Given the description of an element on the screen output the (x, y) to click on. 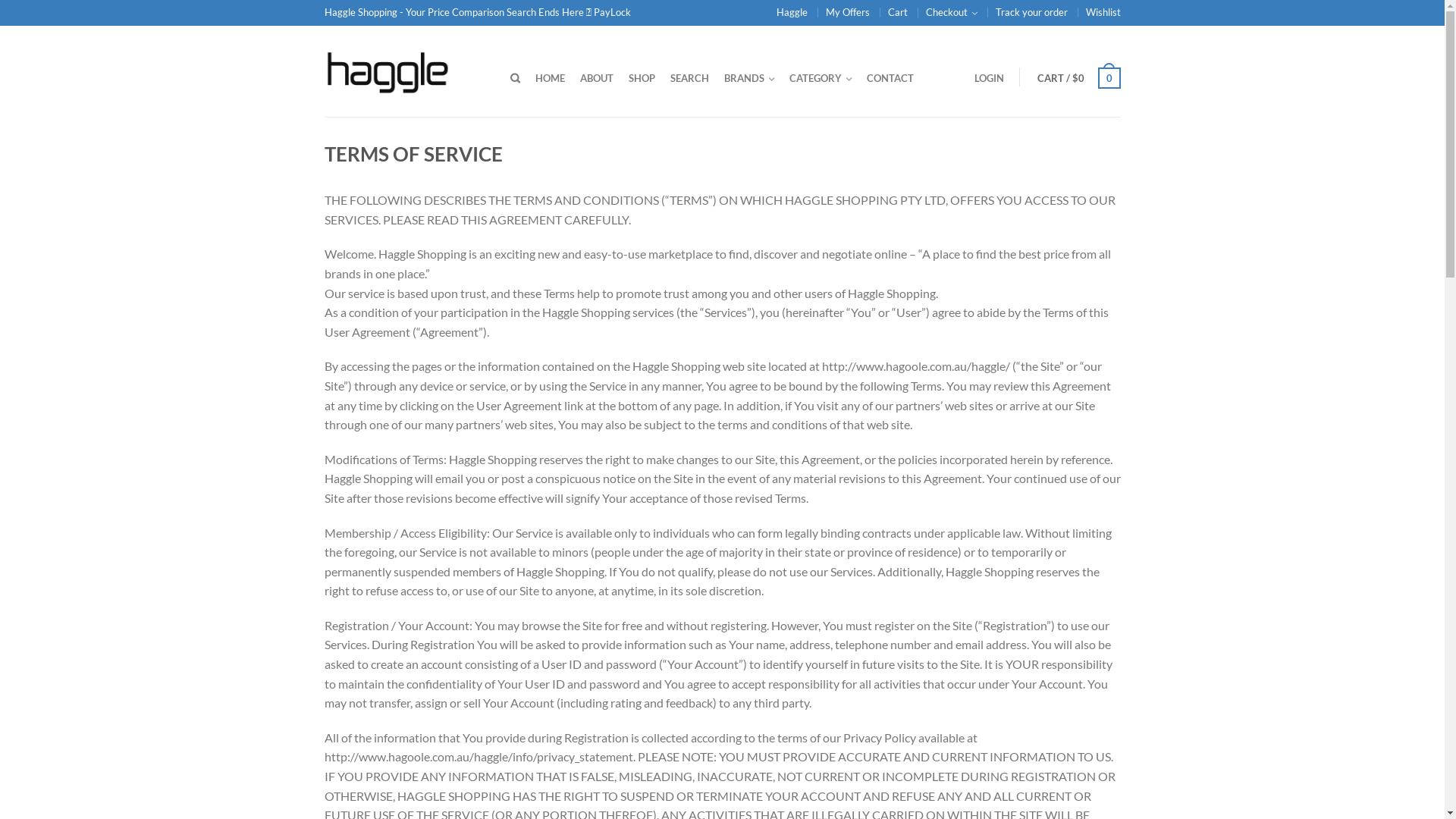
Checkout Element type: text (950, 12)
My Offers Element type: text (847, 12)
Track your order Element type: text (1030, 12)
SHOP Element type: text (640, 77)
LOGIN Element type: text (988, 77)
Wishlist Element type: text (1102, 12)
CATEGORY Element type: text (819, 77)
CART / $0 0 Element type: text (1078, 77)
HOME Element type: text (549, 77)
SEARCH Element type: text (689, 77)
ABOUT Element type: text (595, 77)
CONTACT Element type: text (889, 77)
Haggle Element type: text (791, 12)
Cart Element type: text (896, 12)
BRANDS Element type: text (748, 77)
